Given the description of an element on the screen output the (x, y) to click on. 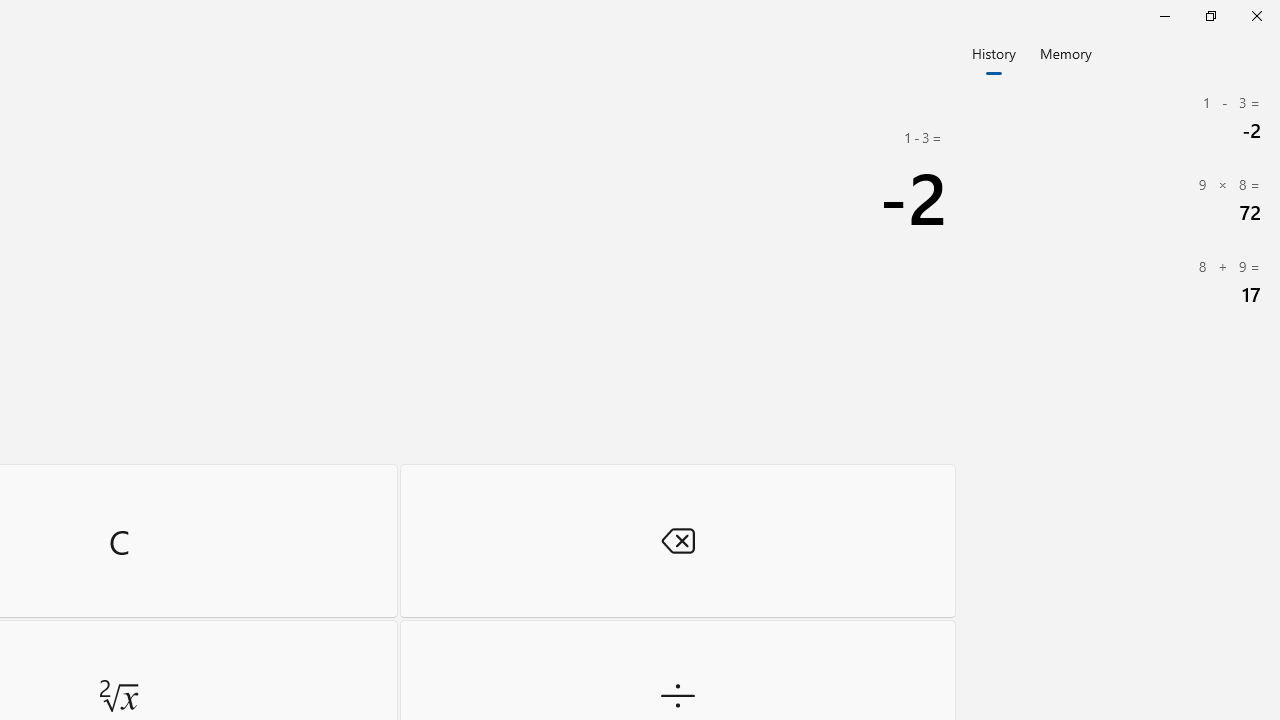
History (993, 52)
Backspace (677, 540)
8 + 9= 17 (1119, 282)
1 Minus ( 3= Minus (2 (1119, 118)
Restore Calculator (1210, 15)
Minimize Calculator (1164, 15)
Close Calculator (1256, 15)
